Given the description of an element on the screen output the (x, y) to click on. 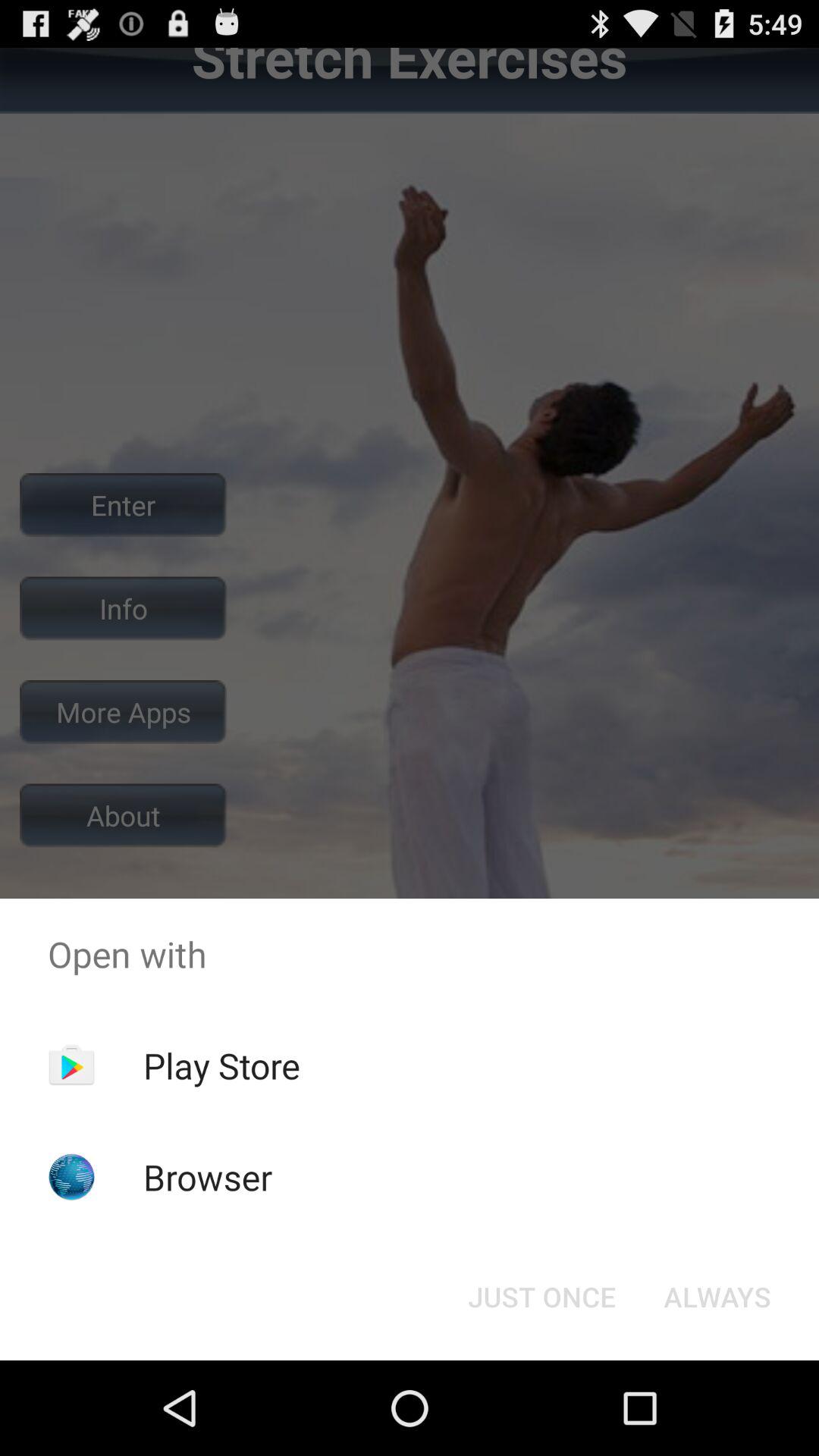
scroll to the browser item (207, 1176)
